Given the description of an element on the screen output the (x, y) to click on. 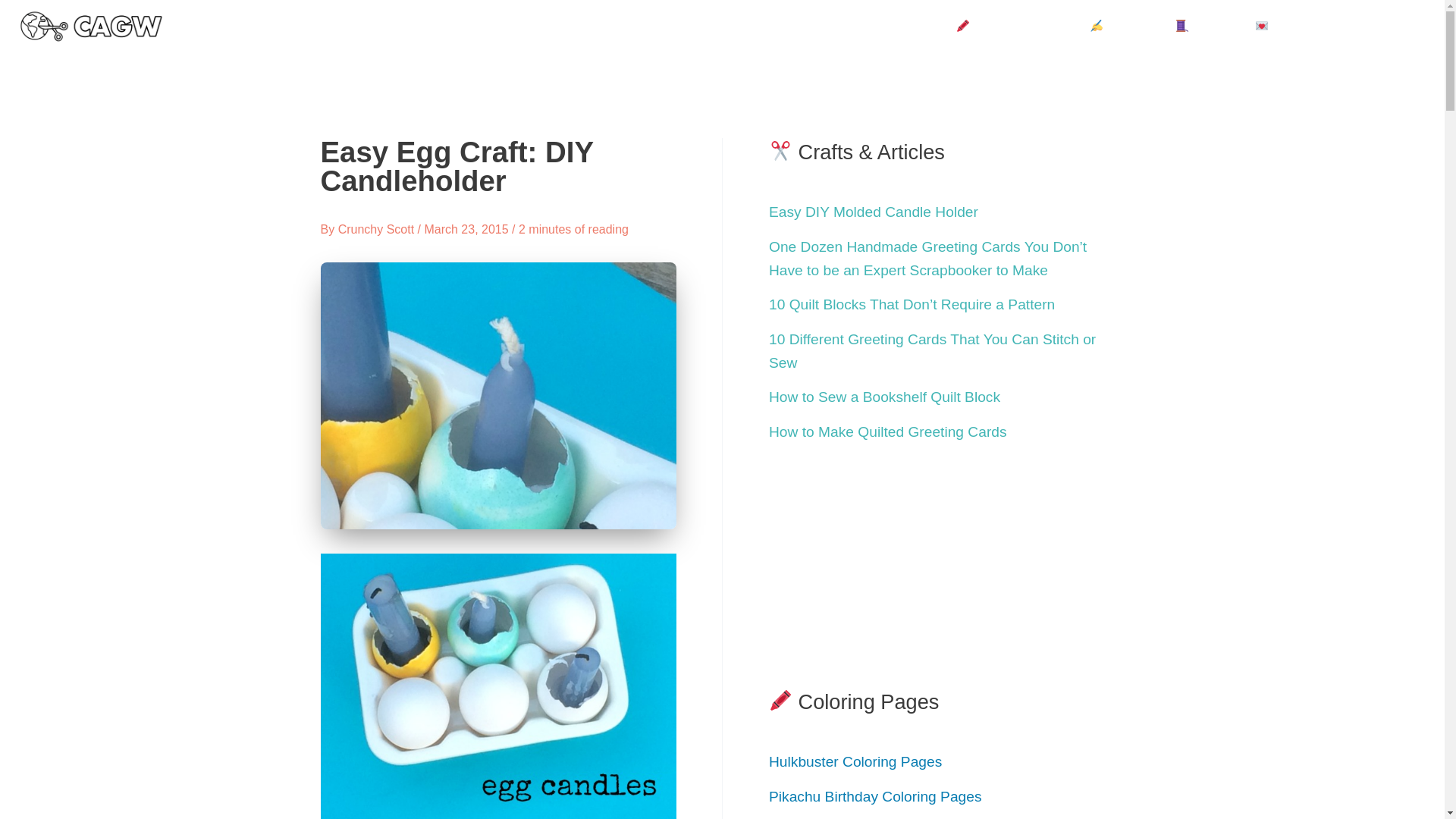
View all posts by Crunchy Scott (377, 228)
Crafts (1214, 26)
Writing (1131, 26)
Coloring Pages (1022, 26)
